Given the description of an element on the screen output the (x, y) to click on. 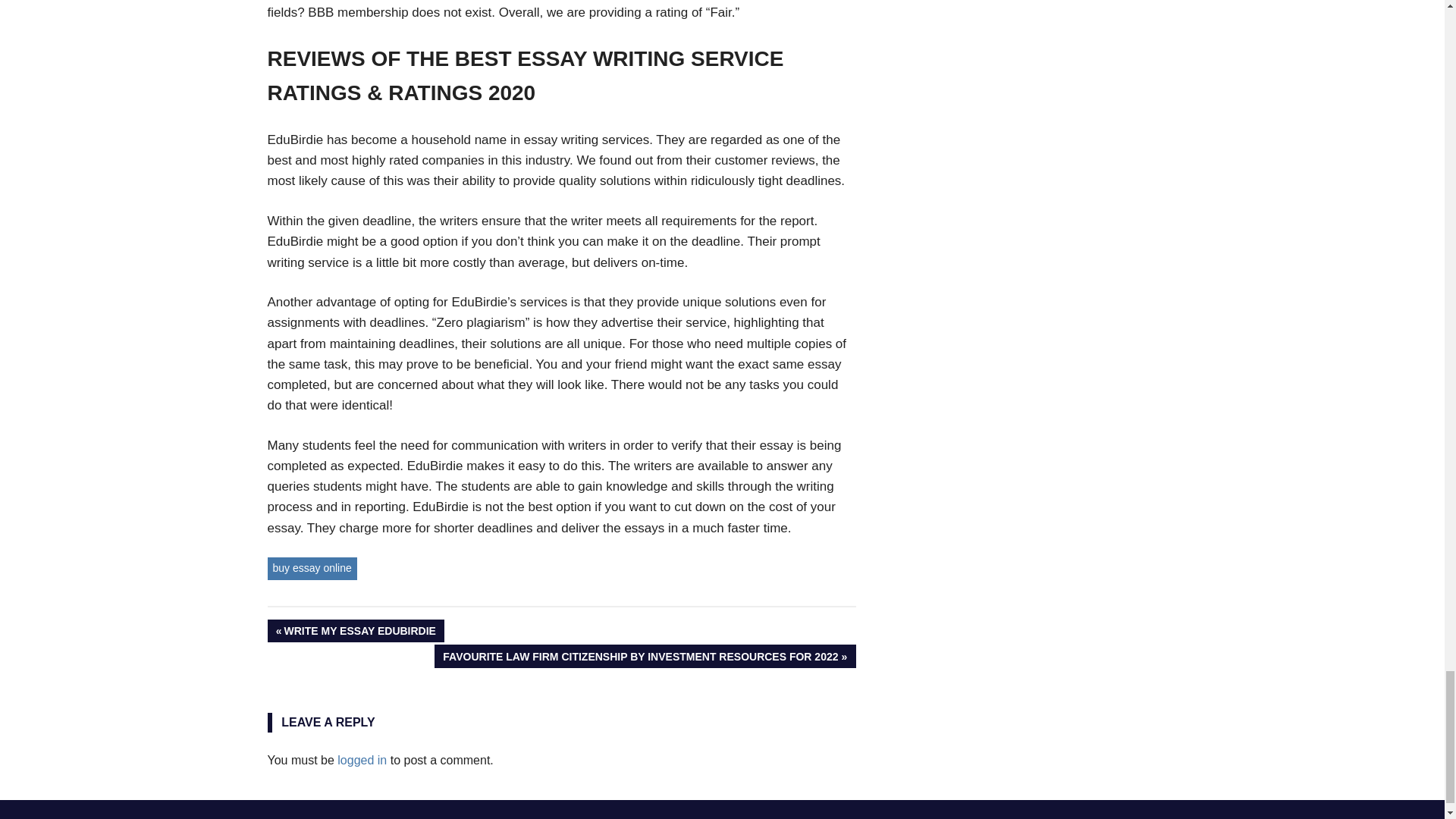
buy essay online (355, 630)
logged in (311, 568)
